Given the description of an element on the screen output the (x, y) to click on. 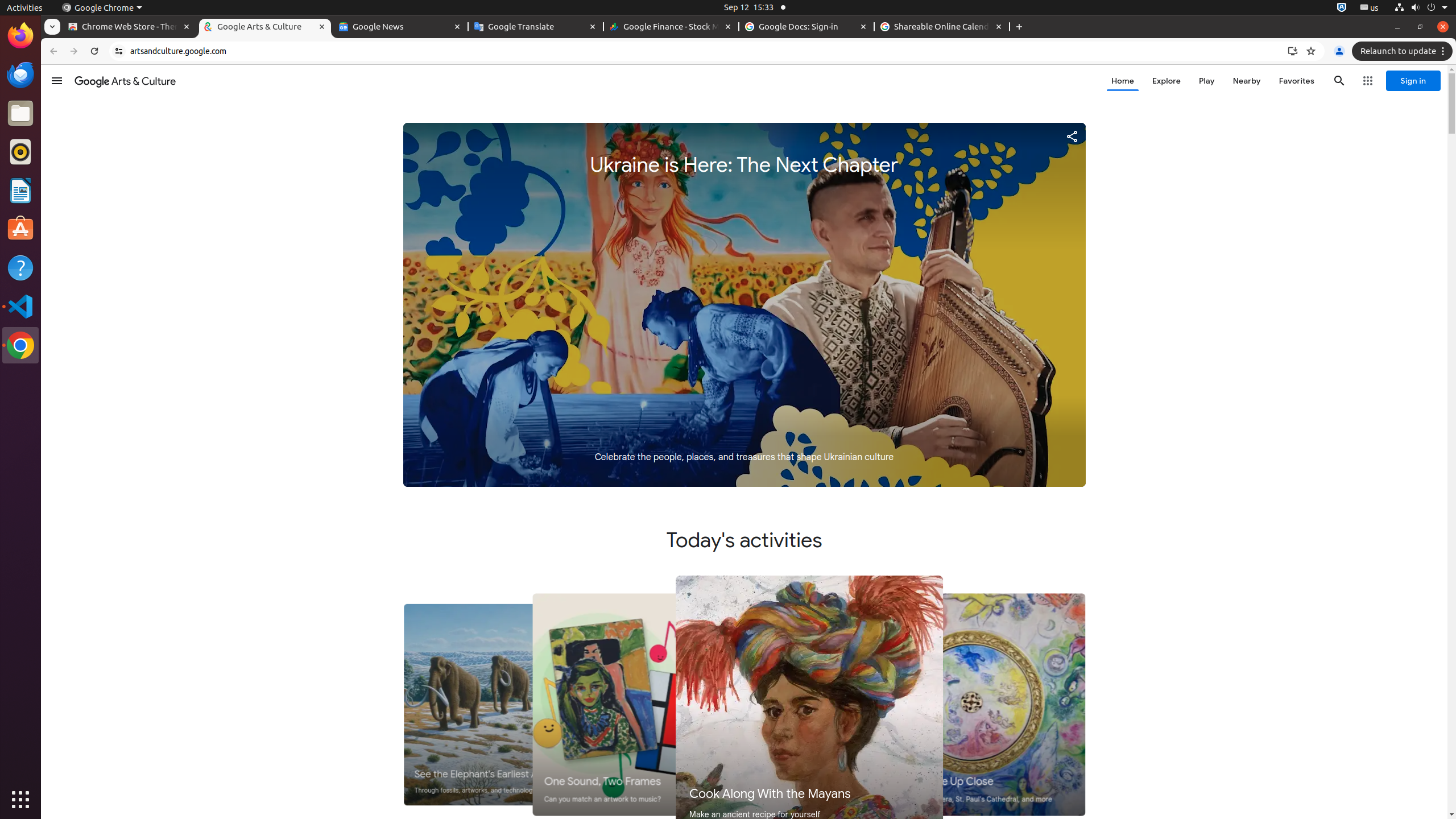
Help Element type: push-button (20, 267)
System Element type: menu (1420, 7)
See the Elephant's Earliest Ancestors Through fossils, artworks, and technology Element type: link (506, 704)
Search Element type: push-button (1339, 80)
:1.21/StatusNotifierItem Element type: menu (1369, 7)
